Given the description of an element on the screen output the (x, y) to click on. 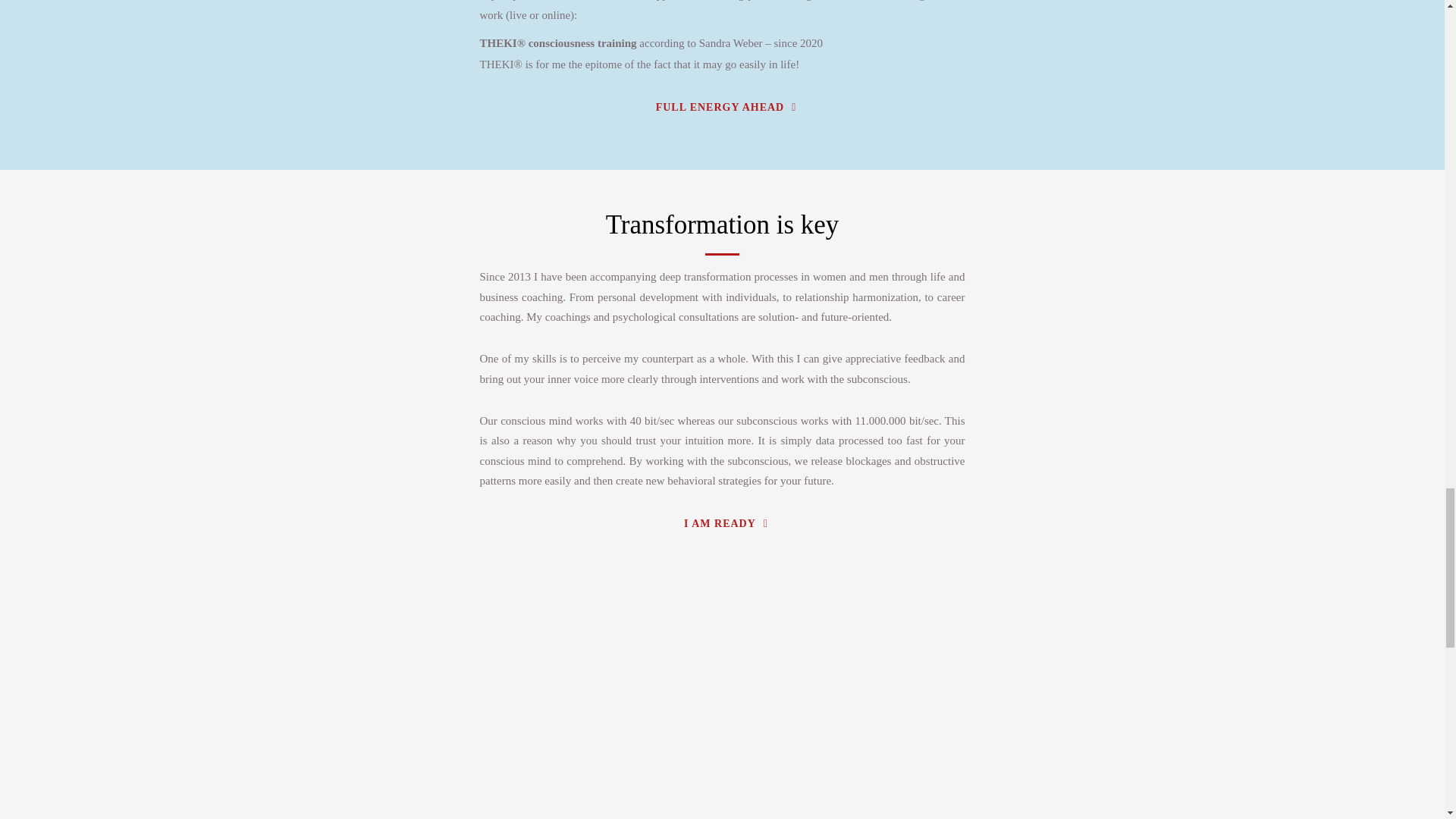
I AM READY (725, 523)
FULL ENERGY AHEAD (726, 107)
